Given the description of an element on the screen output the (x, y) to click on. 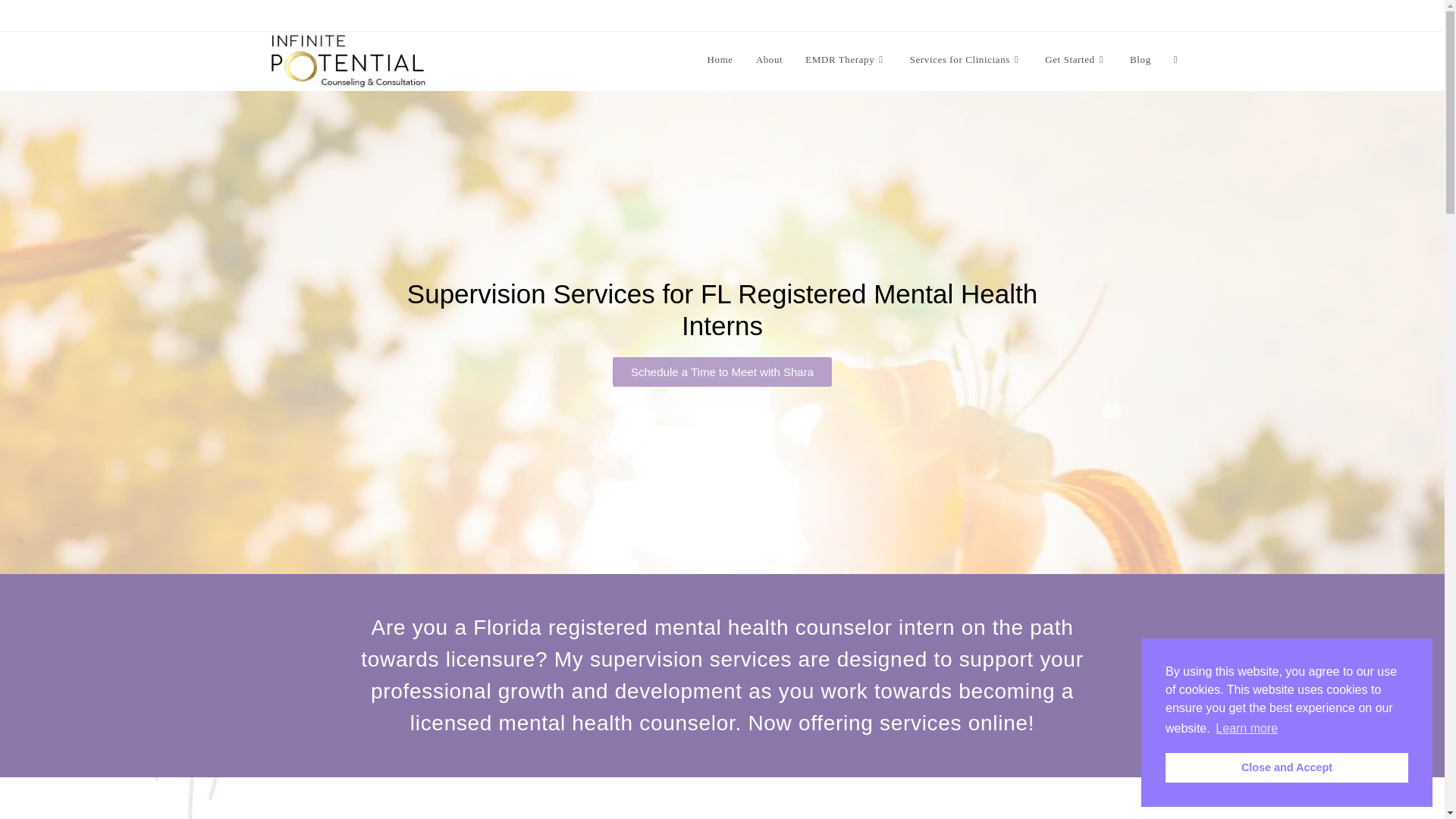
Get Started (1075, 59)
Services for Clinicians (965, 59)
Click here to Take the Quiz. (481, 15)
EMDR Therapy (845, 59)
About (769, 59)
